Given the description of an element on the screen output the (x, y) to click on. 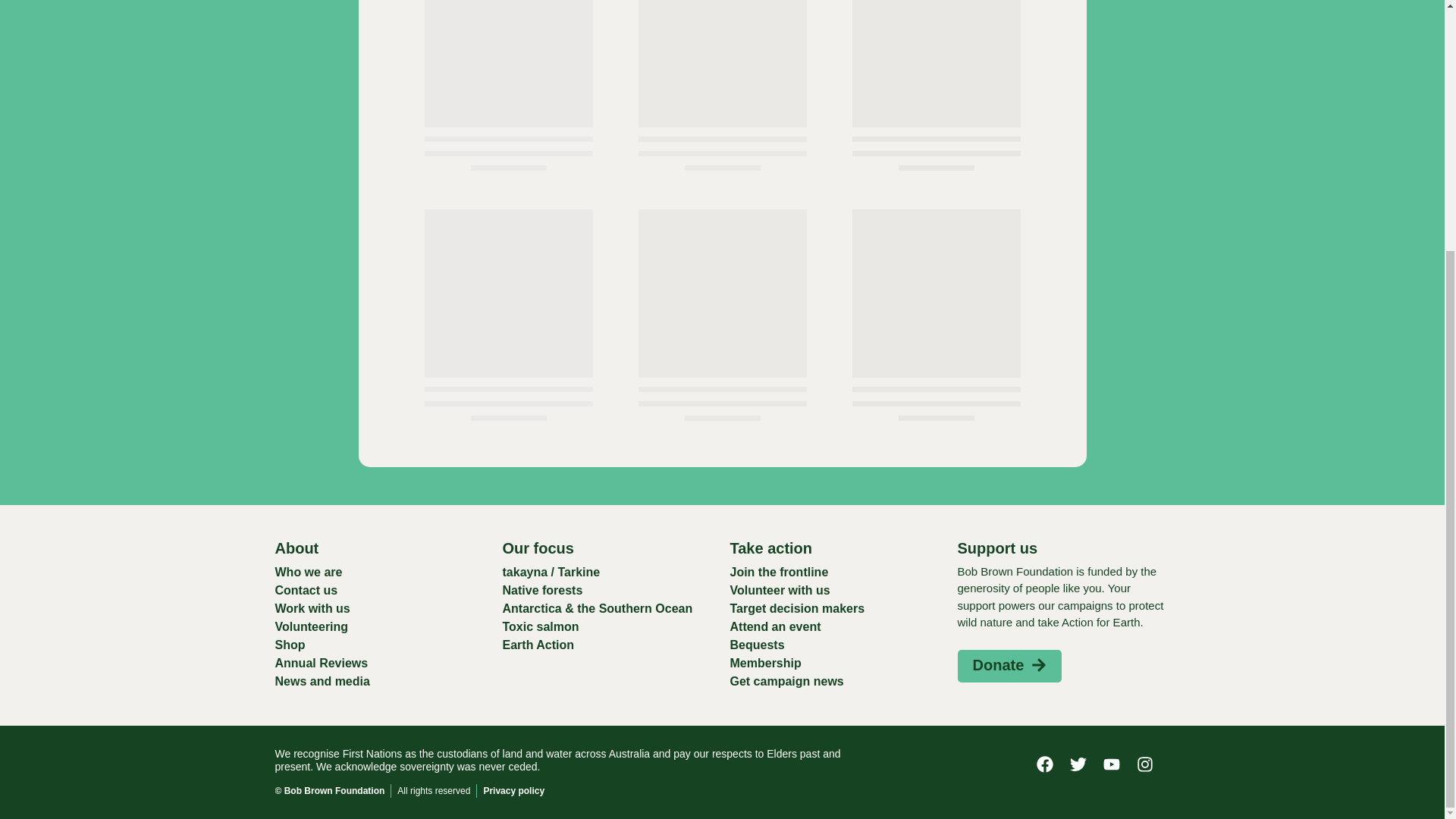
Attend an event (835, 627)
News and media (380, 681)
Volunteering (380, 627)
Earth Action (608, 645)
Privacy policy (513, 790)
Bequests (835, 645)
Membership (835, 663)
Who we are (380, 572)
Contact us (380, 590)
Join the frontline (835, 572)
